Given the description of an element on the screen output the (x, y) to click on. 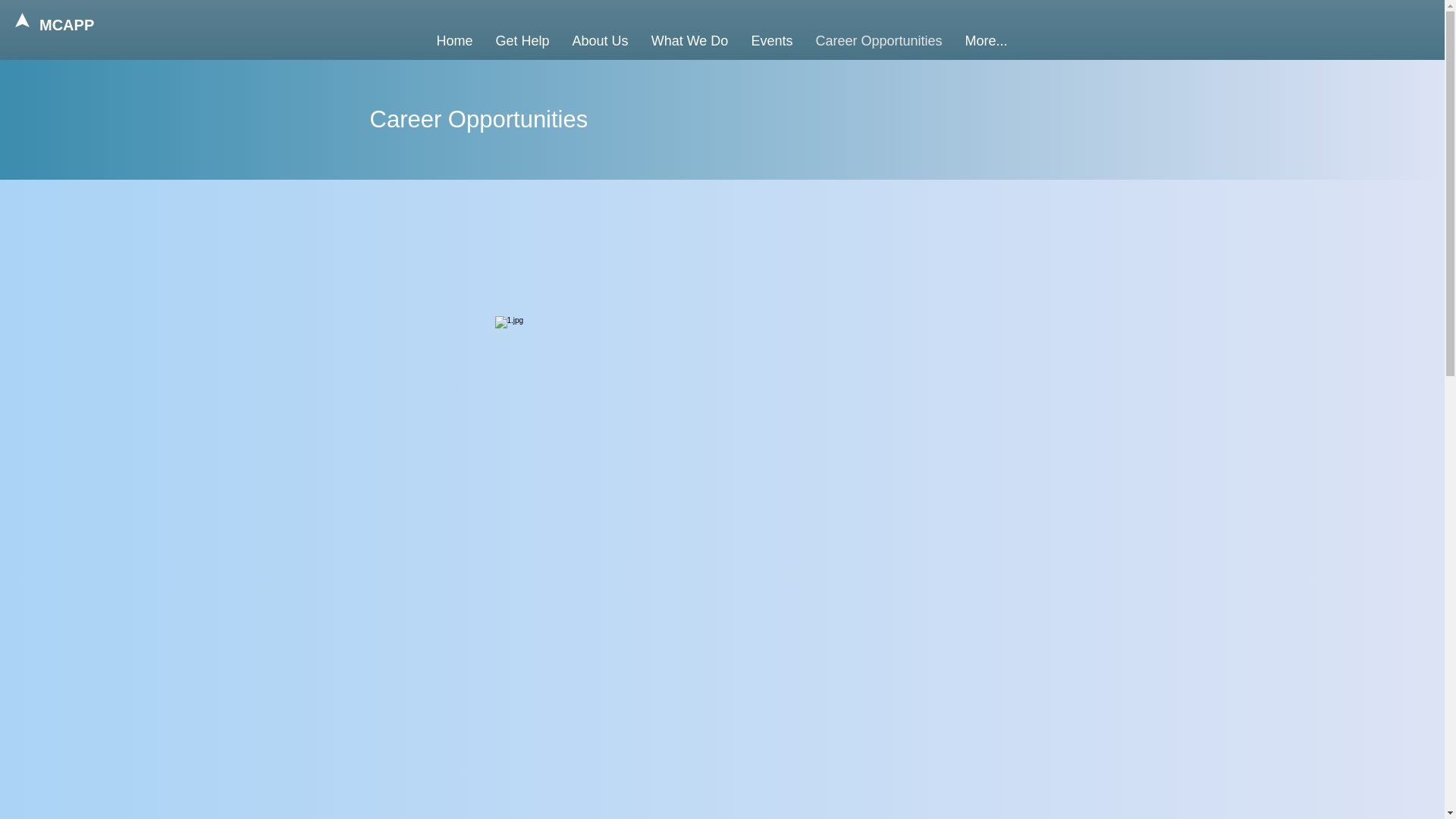
About Us (600, 40)
MCAPP (71, 24)
What We Do (689, 40)
Career Opportunities (878, 40)
Events (772, 40)
Get Help (521, 40)
Home (454, 40)
